Given the description of an element on the screen output the (x, y) to click on. 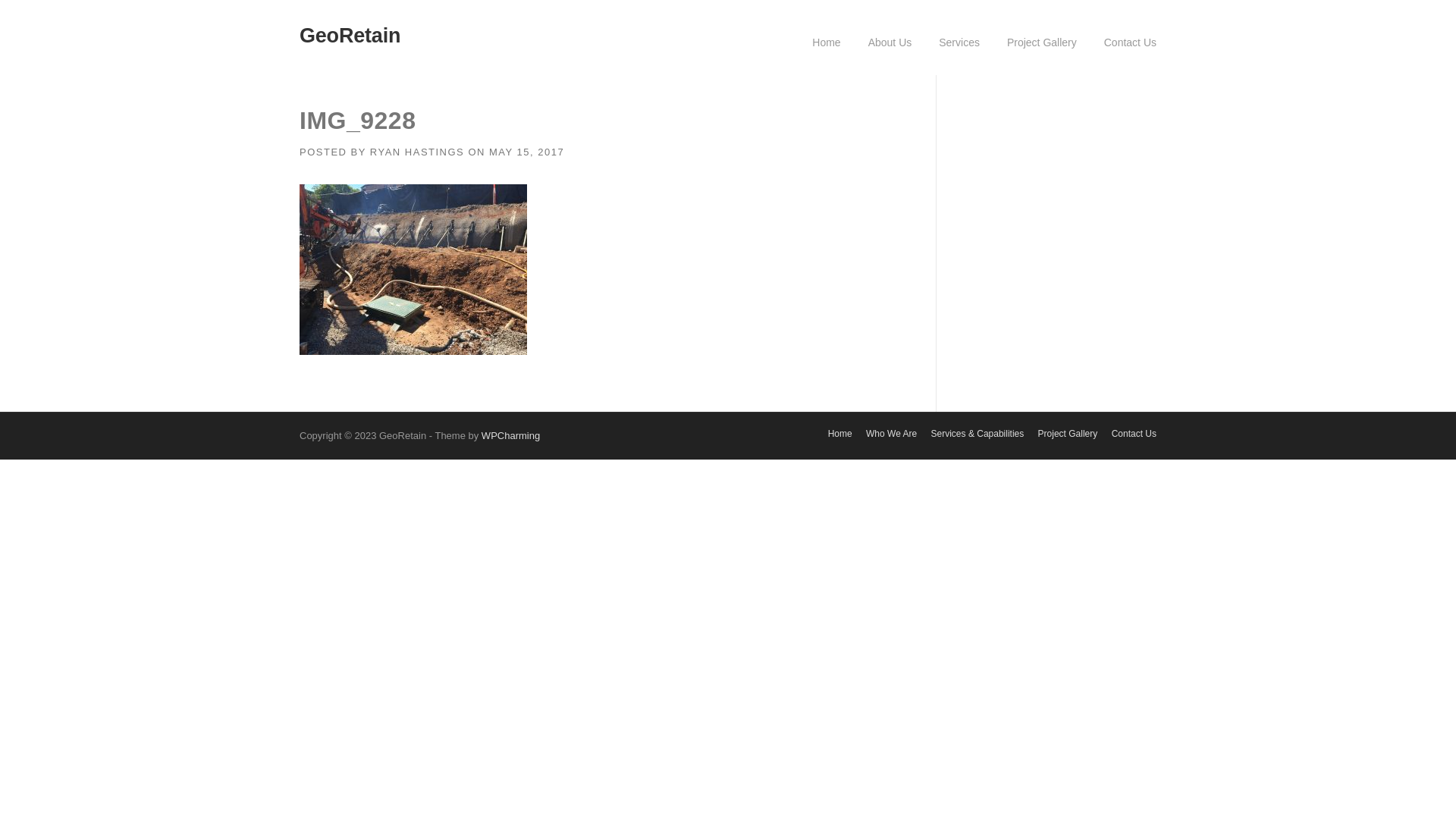
Who We Are Element type: text (891, 433)
Skip to content Element type: text (37, 9)
Services Element type: text (959, 54)
WPCharming Element type: text (510, 435)
Project Gallery Element type: text (1041, 54)
RYAN HASTINGS Element type: text (417, 151)
Services & Capabilities Element type: text (977, 433)
Contact Us Element type: text (1133, 433)
GeoRetain Element type: text (349, 35)
Contact Us Element type: text (1123, 54)
Home Element type: text (840, 433)
MAY 15, 2017 Element type: text (526, 151)
Home Element type: text (825, 54)
Project Gallery Element type: text (1068, 433)
About Us Element type: text (889, 54)
